Given the description of an element on the screen output the (x, y) to click on. 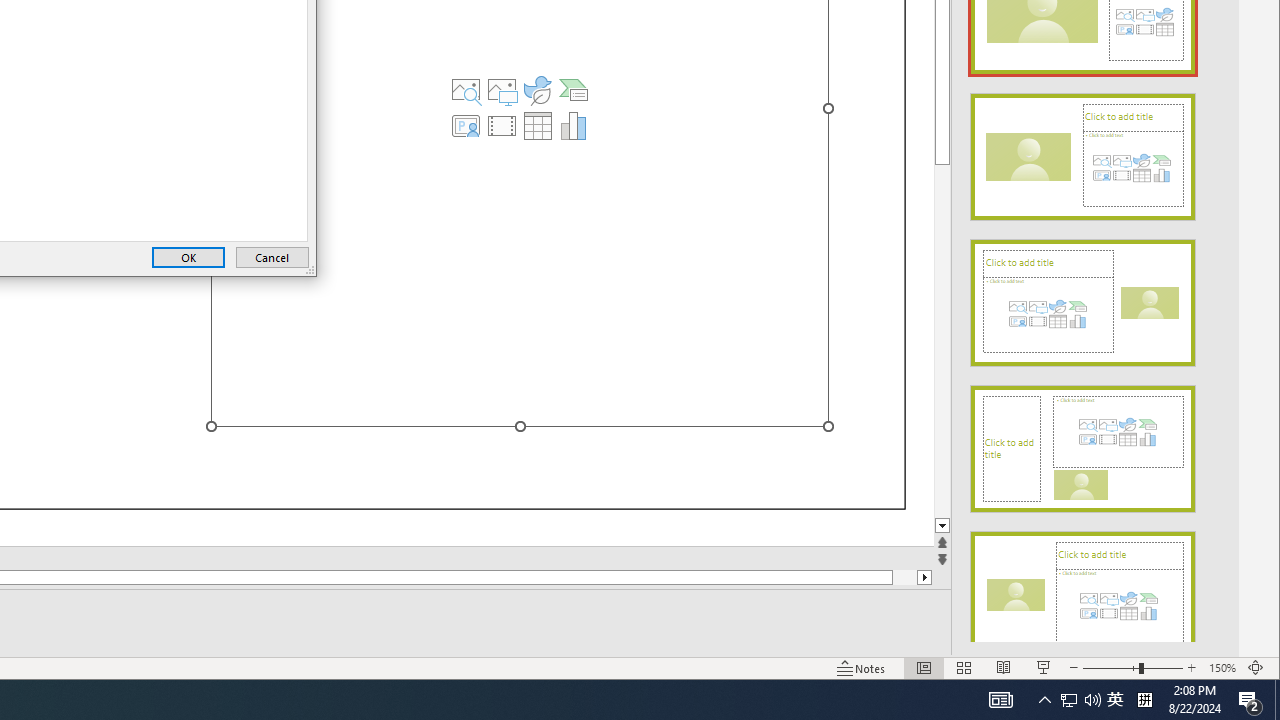
Zoom 150% (1222, 668)
Insert Cameo (466, 125)
Insert a SmartArt Graphic (574, 89)
Cancel (272, 257)
